Given the description of an element on the screen output the (x, y) to click on. 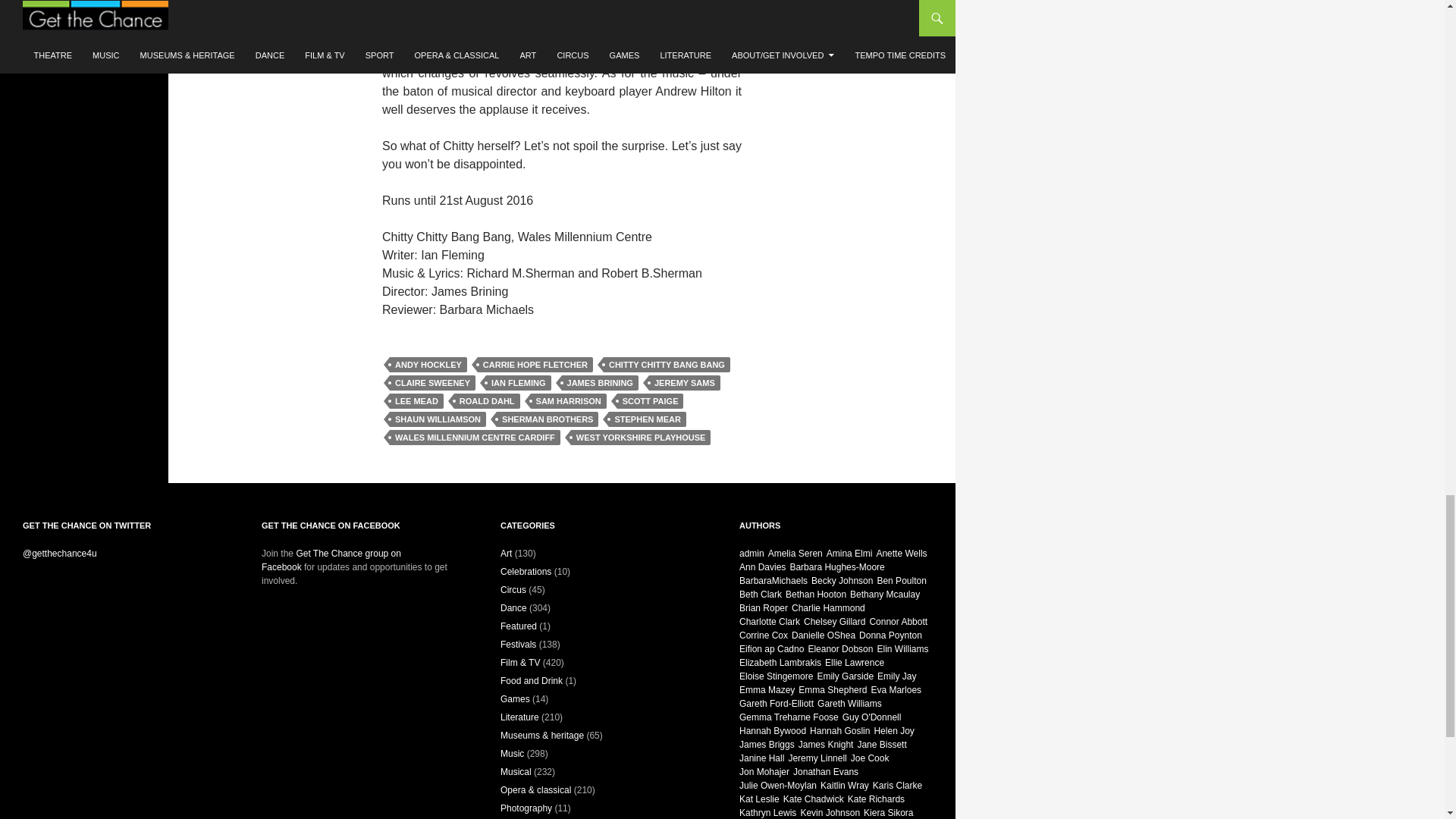
CLAIRE SWEENEY (433, 382)
Posts by Bethany Mcaulay (885, 593)
JAMES BRINING (600, 382)
IAN FLEMING (518, 382)
Posts by Anette Wells (901, 552)
ROALD DAHL (486, 400)
SCOTT PAIGE (650, 400)
Posts by Charlotte Clark (769, 621)
Posts by BarbaraMichaels (773, 580)
Posts by Ben Poulton (901, 580)
